Given the description of an element on the screen output the (x, y) to click on. 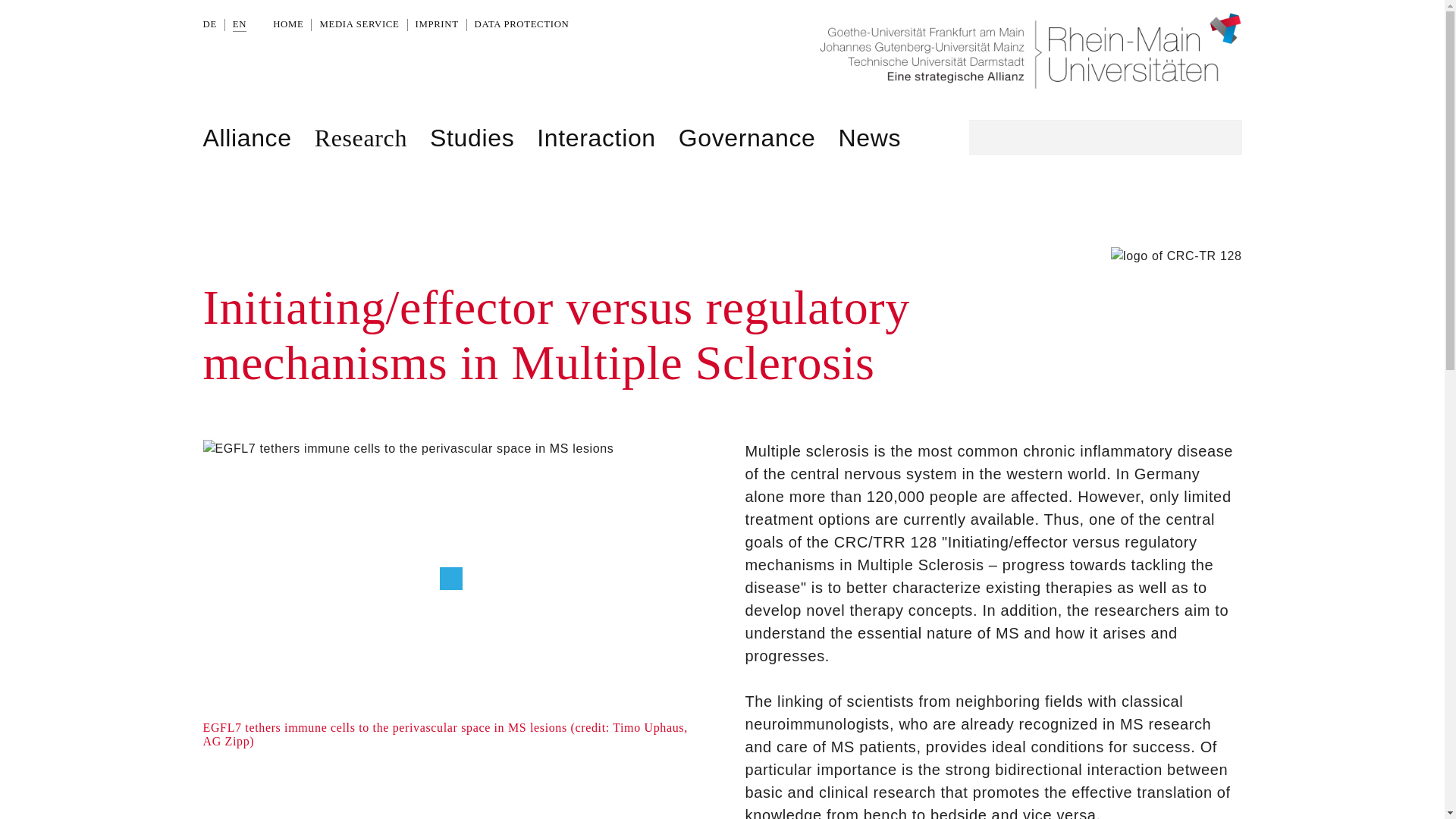
Search (1222, 136)
News (869, 137)
DE (209, 24)
HOME (287, 24)
EN (239, 24)
MEDIA SERVICE (358, 24)
Search (1222, 136)
Alliance (247, 137)
Governance (746, 137)
Research (360, 137)
IMPRINT (436, 24)
Interaction (596, 137)
Studies (471, 137)
DATA PROTECTION (521, 24)
